Given the description of an element on the screen output the (x, y) to click on. 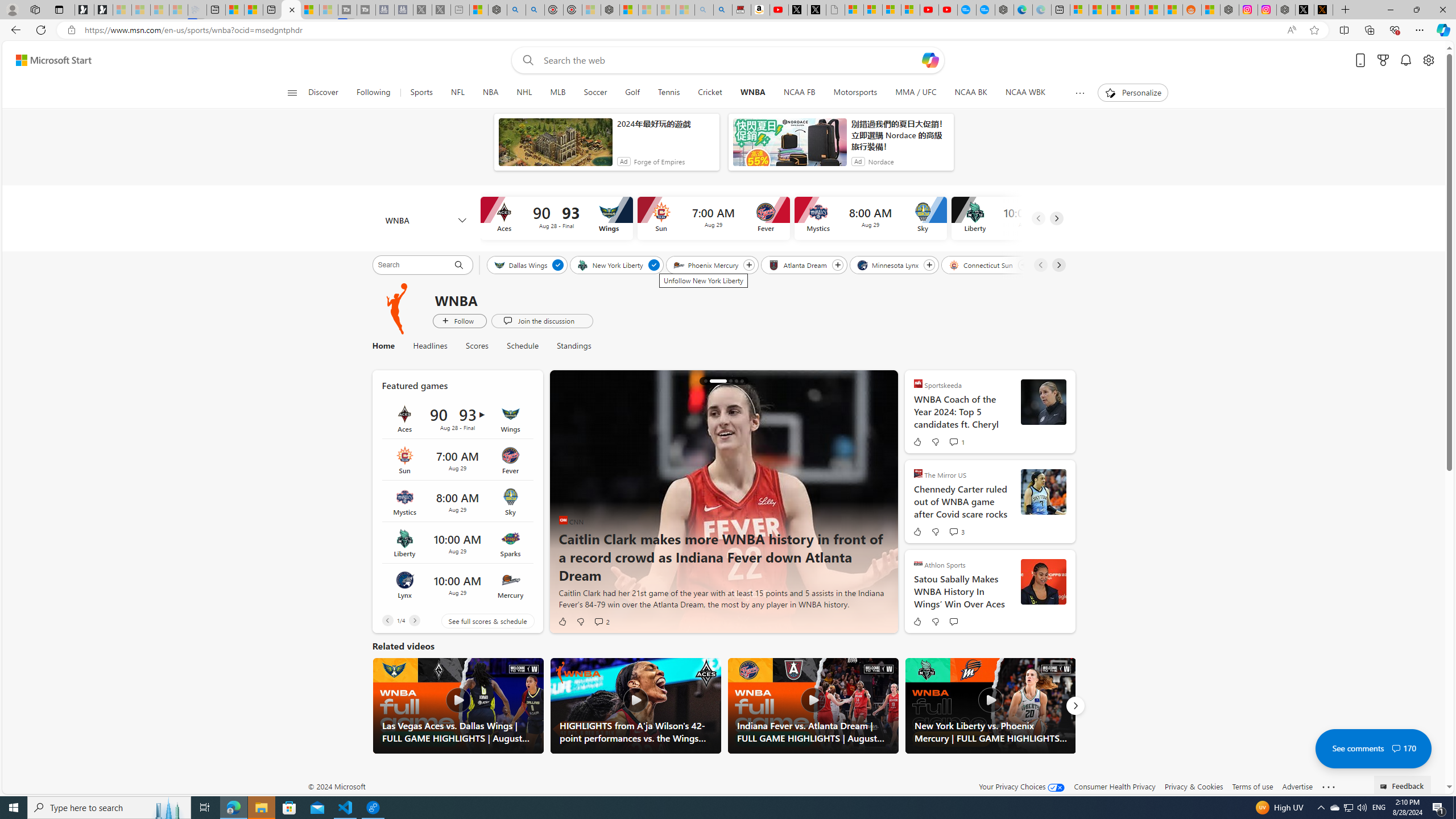
Address and search bar (680, 29)
Privacy & Cookies (1193, 785)
Golf (631, 92)
Untitled (835, 9)
Golf (632, 92)
Day 1: Arriving in Yemen (surreal to be here) - YouTube (778, 9)
Your Privacy Choices (1021, 786)
Tennis (667, 92)
Personalize (1132, 92)
App bar (728, 29)
